Given the description of an element on the screen output the (x, y) to click on. 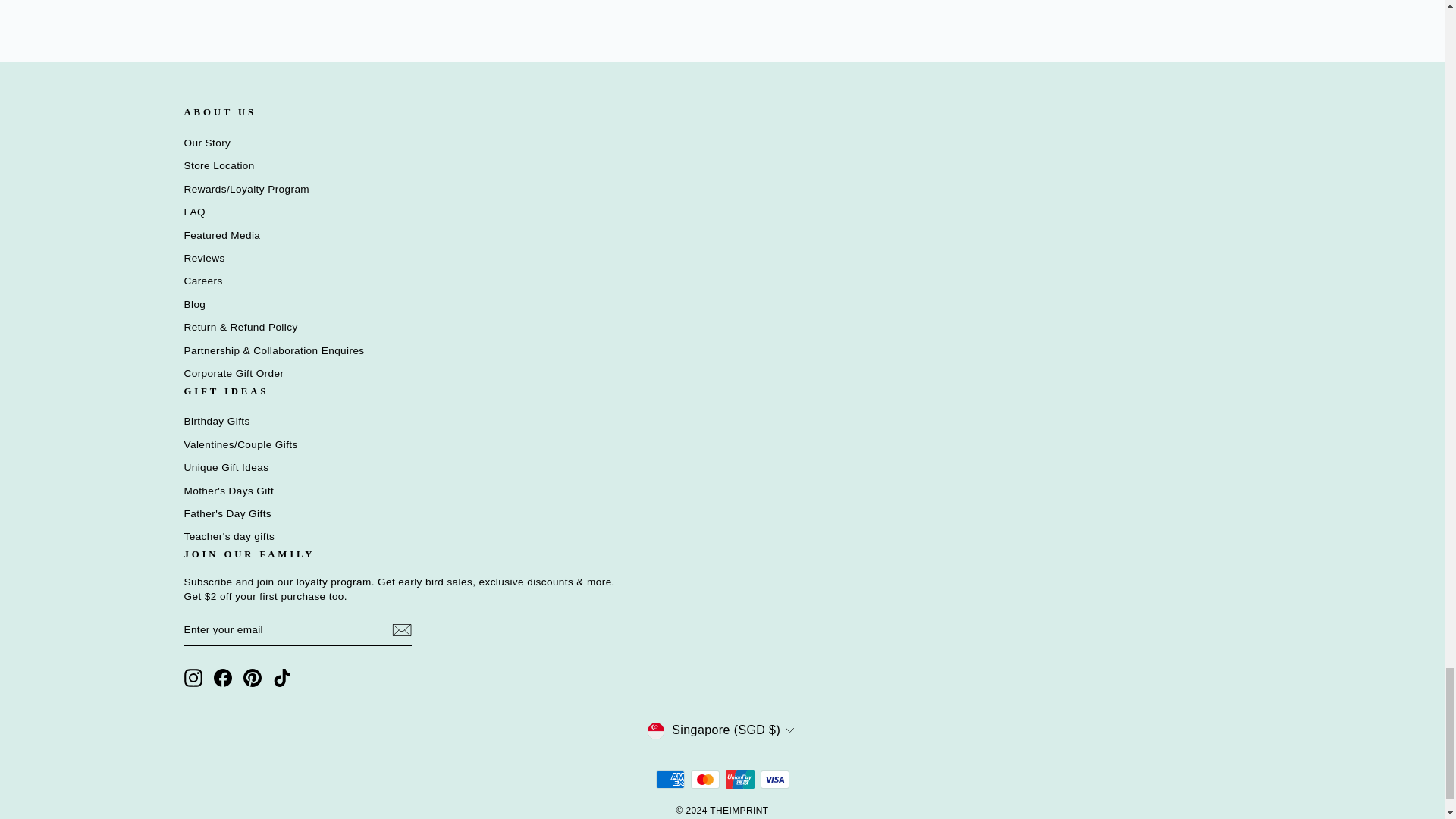
THEIMPRINT on TikTok (282, 678)
THEIMPRINT on Facebook (222, 678)
THEIMPRINT on Pinterest (251, 678)
THEIMPRINT on Instagram (192, 678)
